Given the description of an element on the screen output the (x, y) to click on. 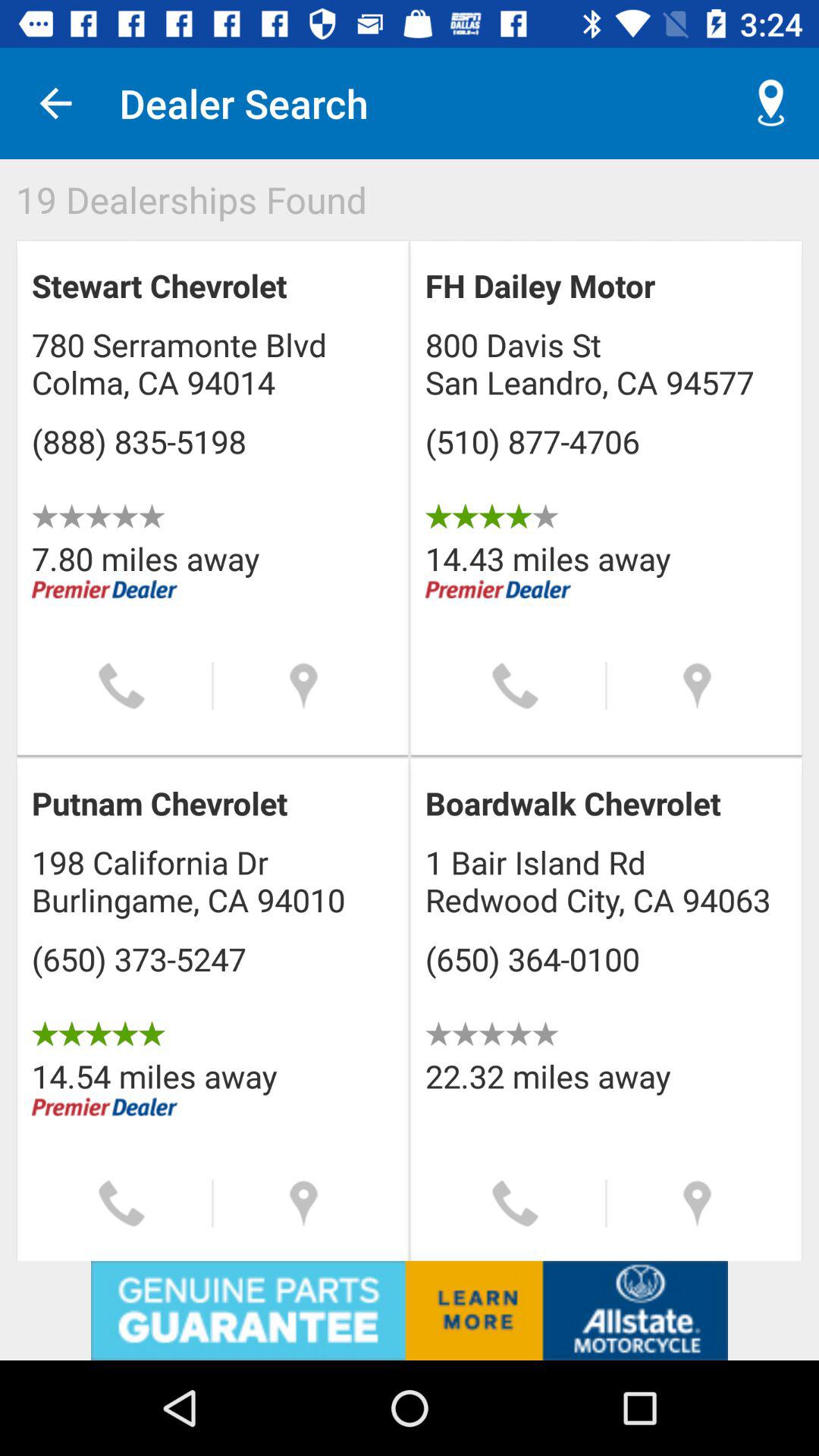
call store (515, 685)
